Given the description of an element on the screen output the (x, y) to click on. 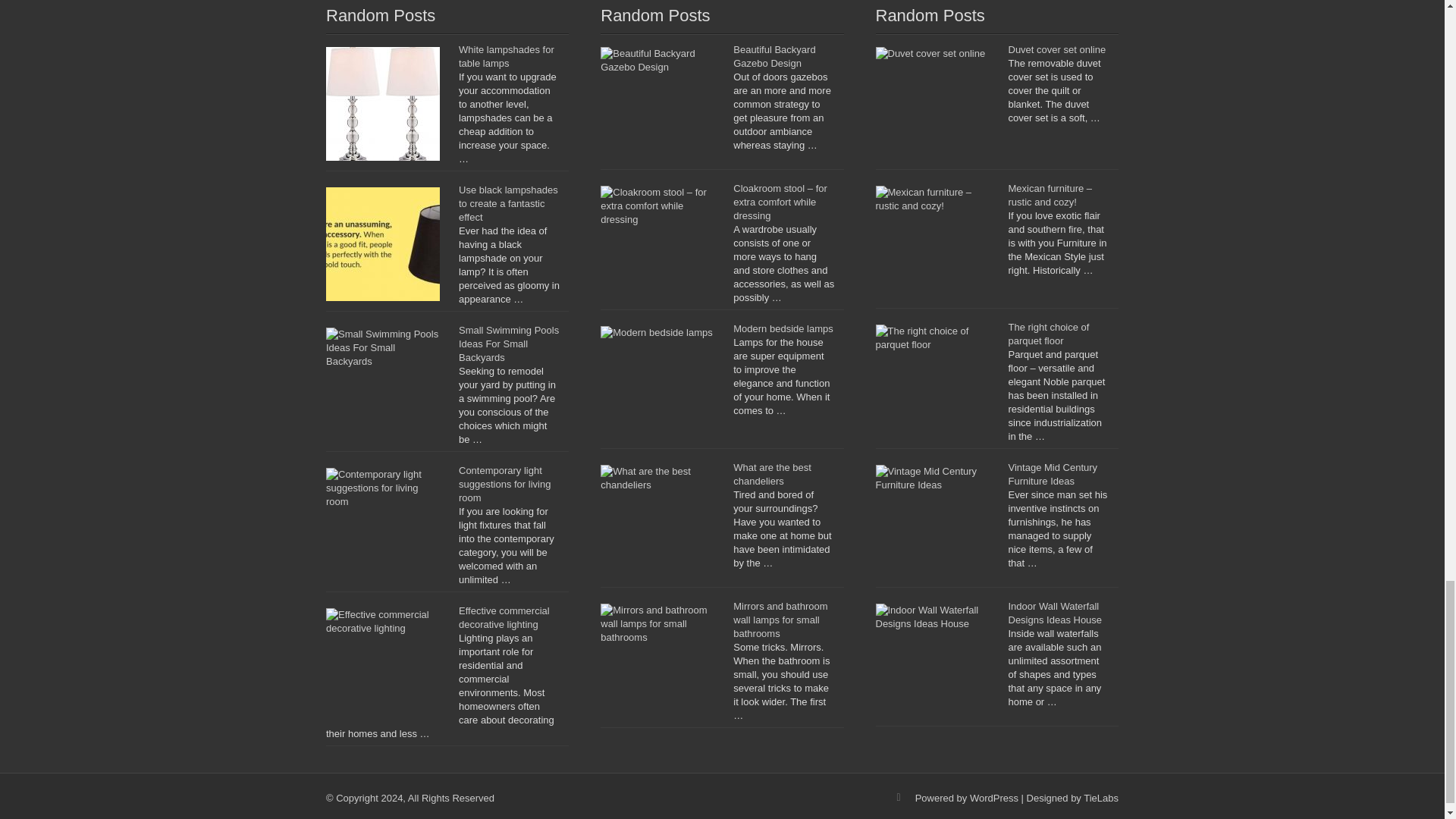
Modern bedside lamps (782, 328)
Rss (898, 797)
Beautiful Backyard Gazebo Design (774, 56)
Use black lampshades to create a fantastic effect (507, 203)
Effective commercial decorative lighting (504, 617)
What are the best chandeliers (771, 473)
Contemporary light suggestions for living room (504, 484)
White lampshades for table lamps (506, 56)
Small Swimming Pools Ideas For Small Backyards (508, 343)
Duvet cover set online (1057, 49)
Mirrors and bathroom wall lamps for small bathrooms (780, 619)
